Given the description of an element on the screen output the (x, y) to click on. 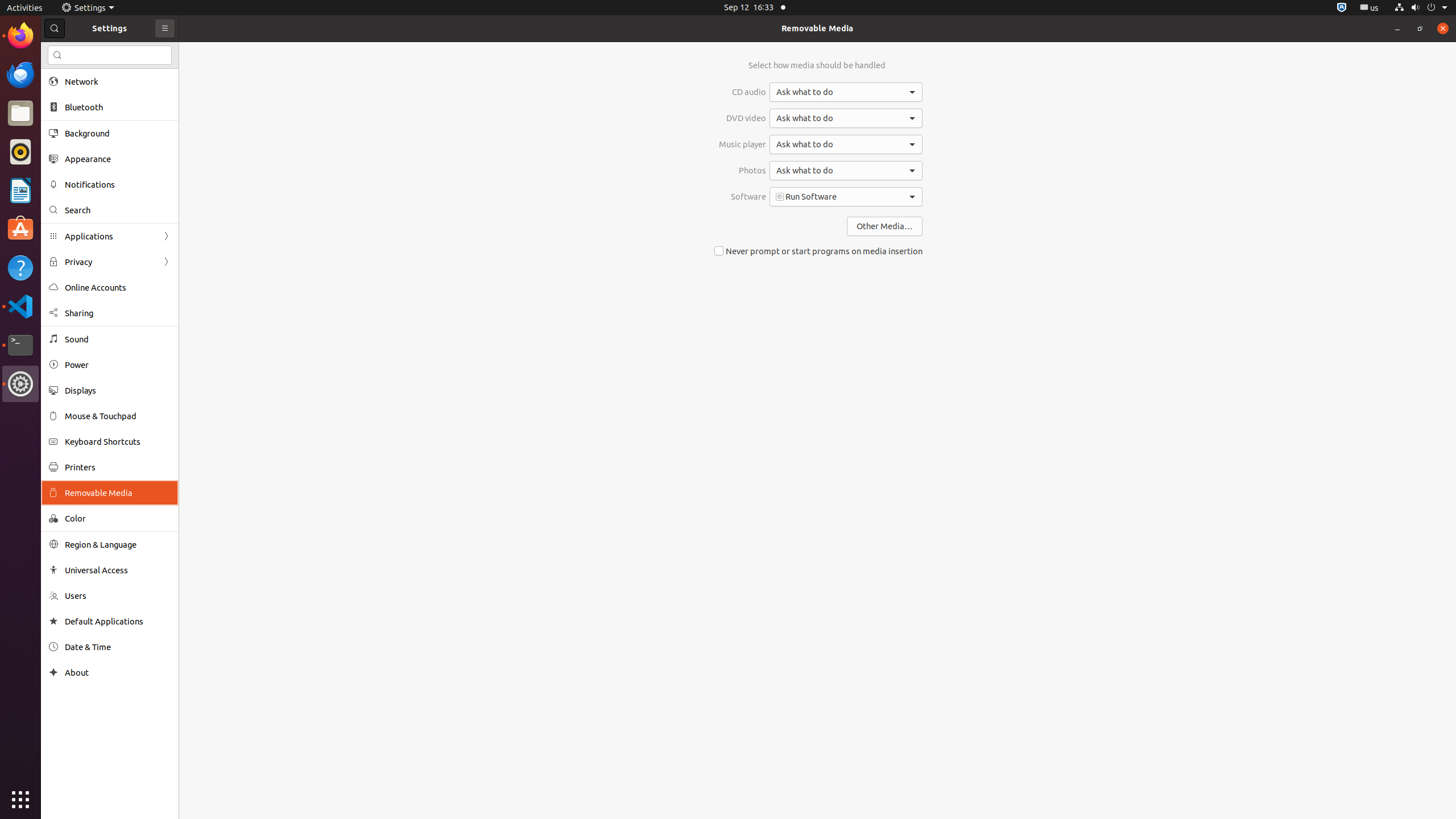
Photos Element type: label (742, 170)
IsaHelpMain.desktop Element type: label (75, 170)
Removable Media Element type: label (816, 27)
luyi1 Element type: label (75, 50)
